Given the description of an element on the screen output the (x, y) to click on. 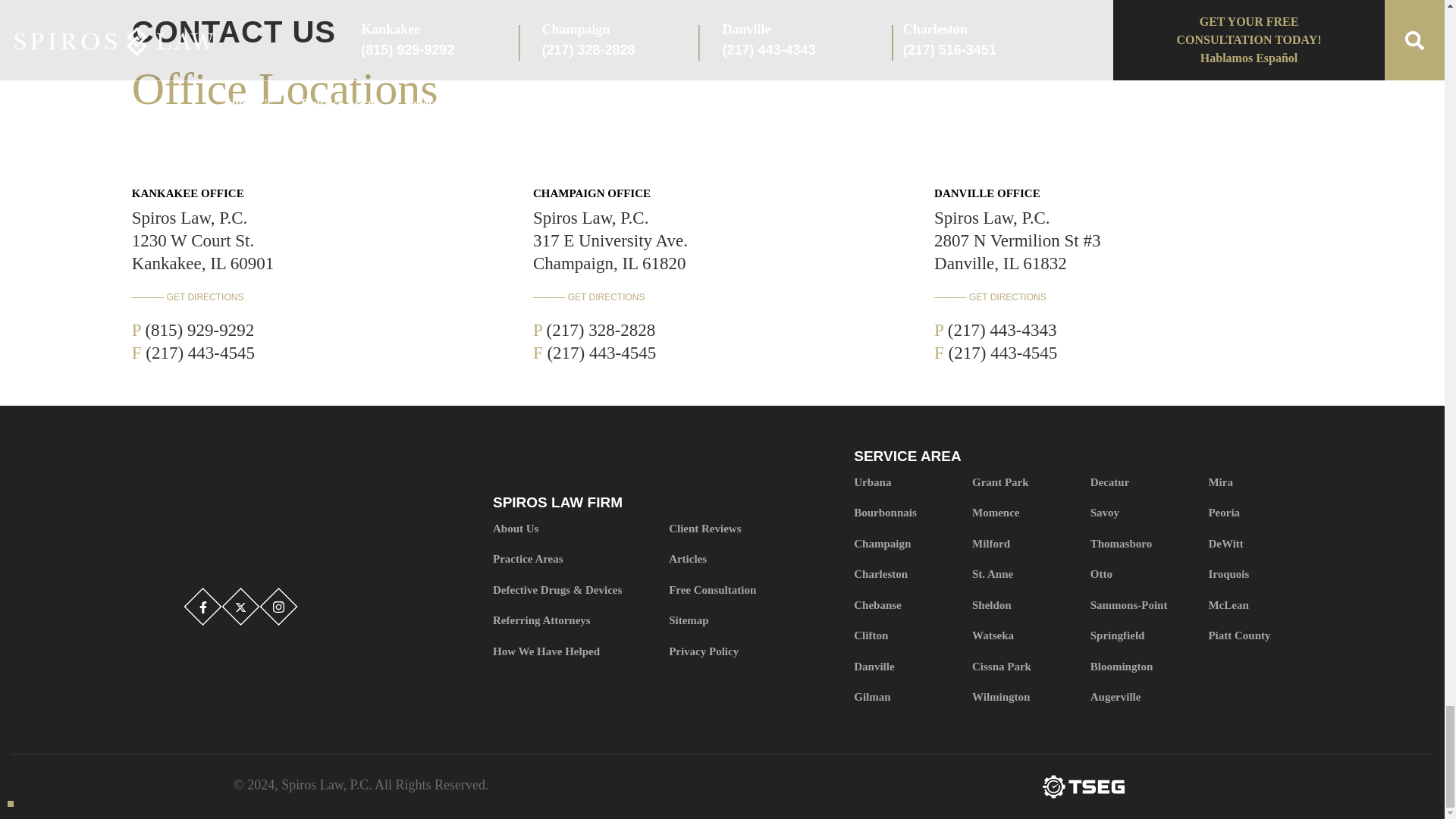
About Us (574, 528)
Practice Areas (574, 558)
